Given the description of an element on the screen output the (x, y) to click on. 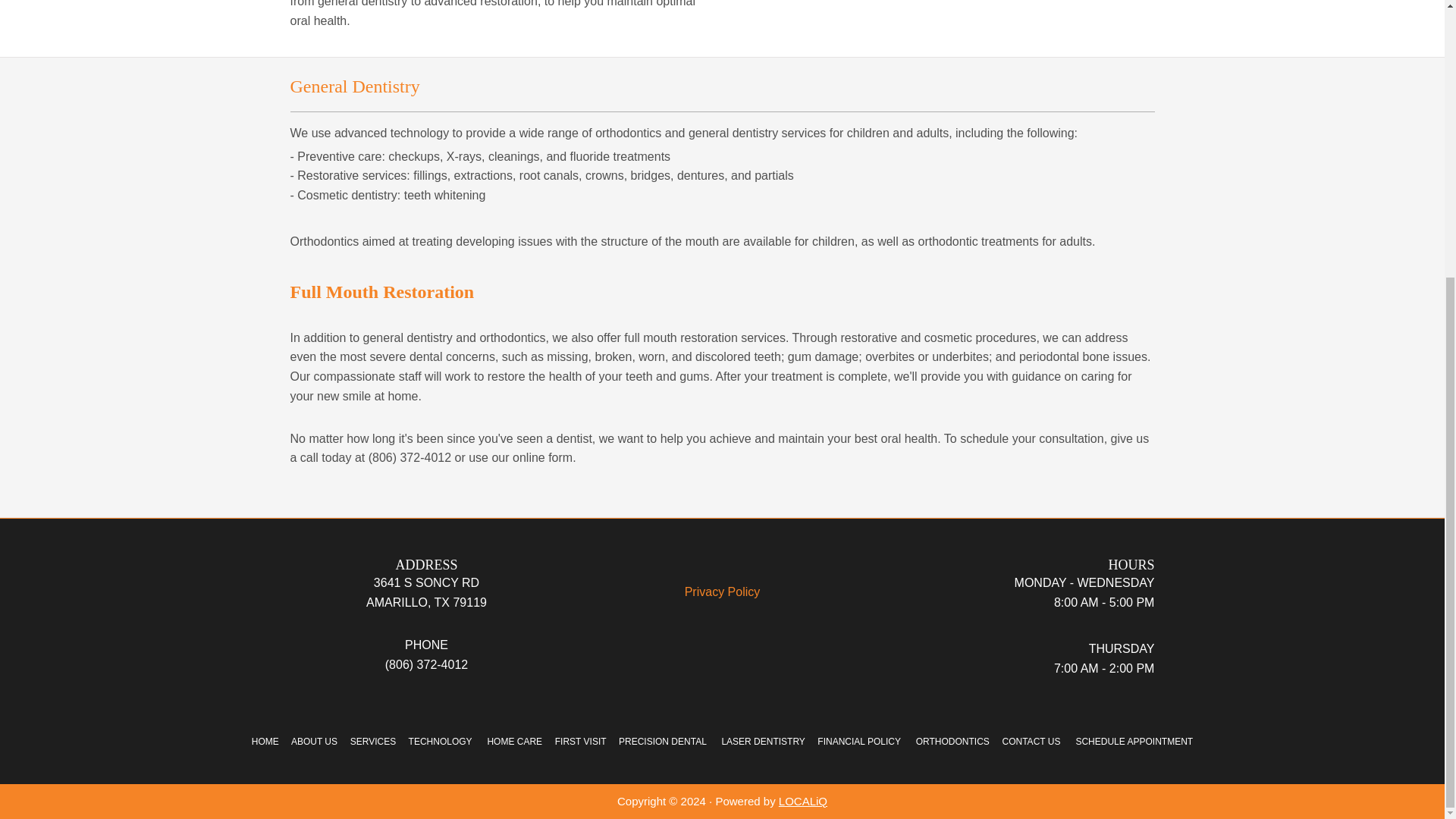
CONTACT US (1032, 741)
PRECISION DENTAL (662, 741)
SCHEDULE APPOINTMENT (1133, 741)
FINANCIAL POLICY (857, 741)
FIRST VISIT (580, 741)
LASER DENTISTRY (762, 741)
Privacy Policy (722, 591)
ABOUT US (314, 741)
TECHNOLOGY (440, 741)
SERVICES (373, 741)
LOCALiQ (802, 800)
HOME  (266, 741)
ORTHODONTICS (952, 741)
HOME CARE (513, 741)
